Given the description of an element on the screen output the (x, y) to click on. 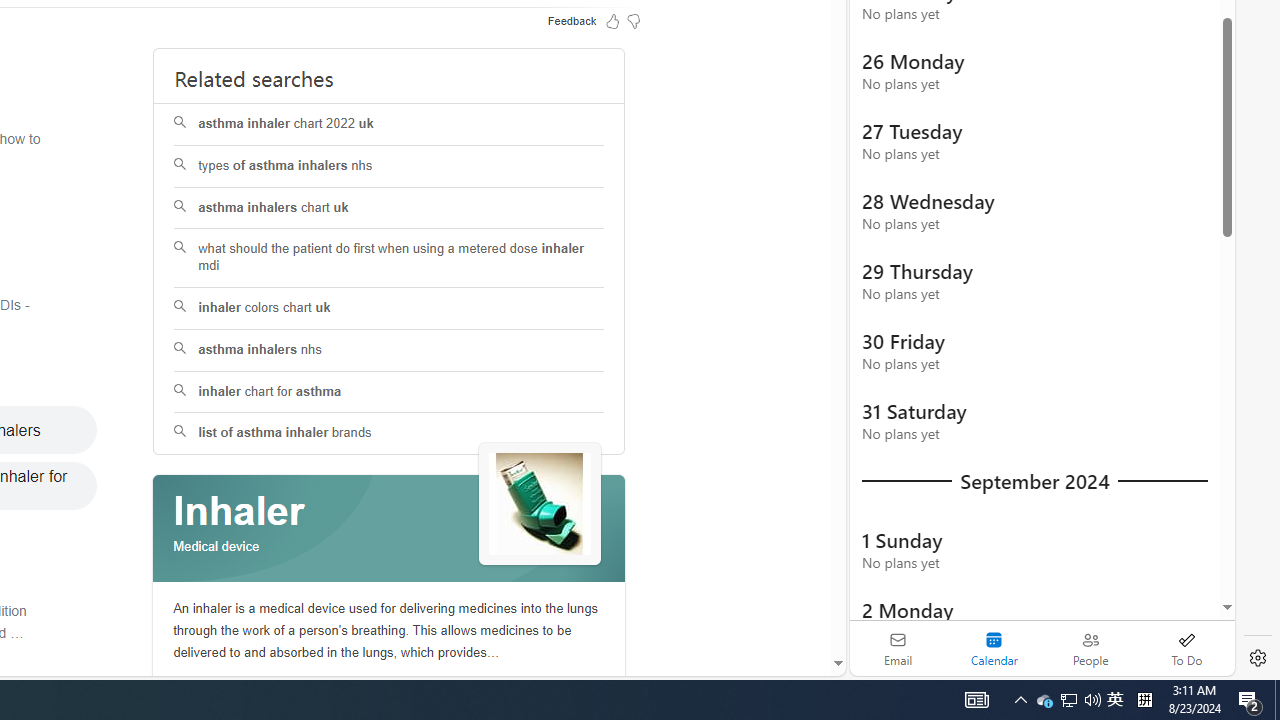
Class: spl_logobg (389, 529)
asthma inhalers nhs (389, 350)
types of asthma inhalers nhs (389, 165)
Feedback Dislike (633, 20)
types of asthma inhalers nhs (388, 165)
asthma inhalers nhs (388, 349)
Selected calendar module. Date today is 22 (994, 648)
Feedback Like (612, 20)
To Do (1186, 648)
inhaler chart for asthma (389, 391)
